Given the description of an element on the screen output the (x, y) to click on. 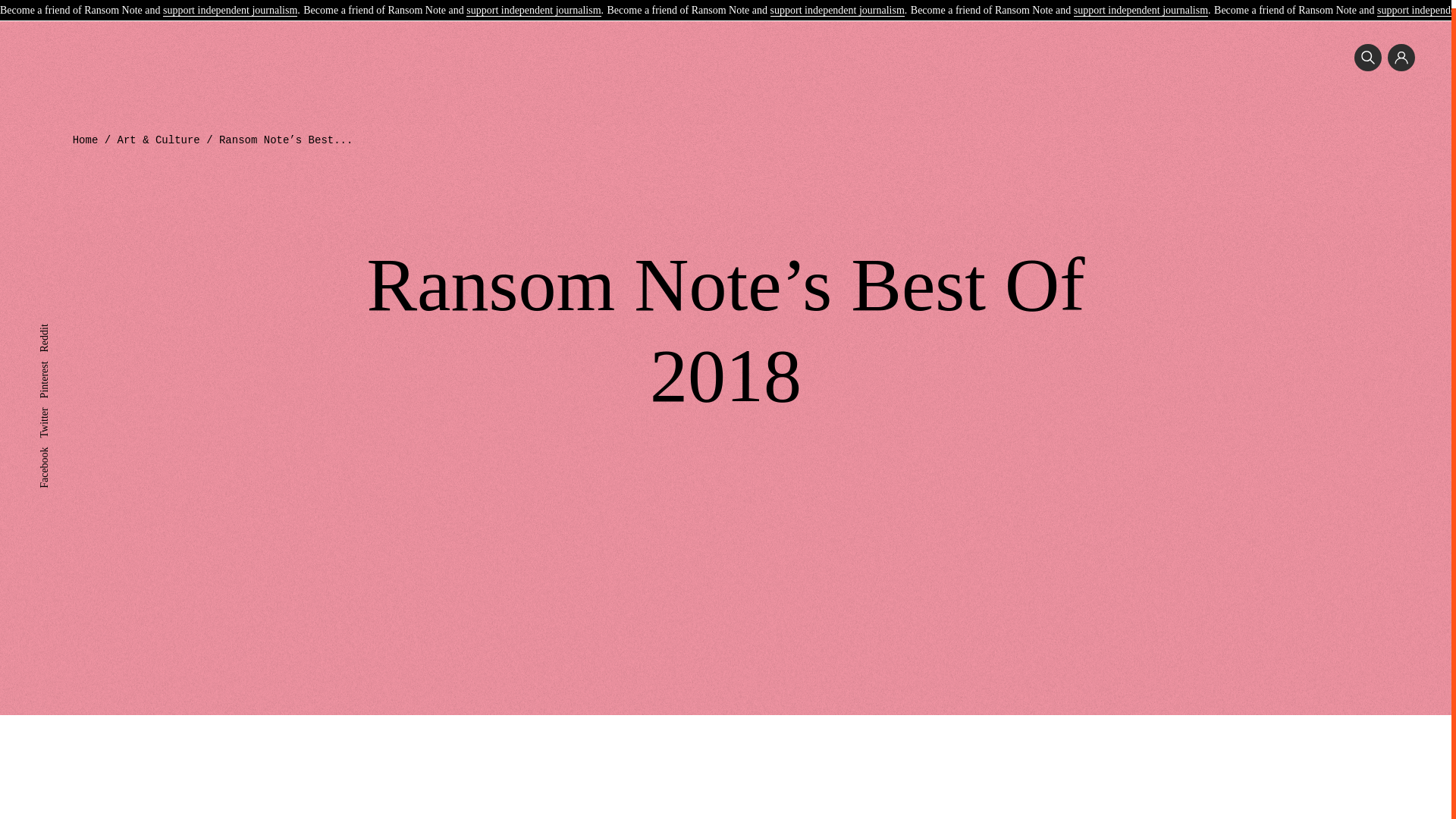
support independent journalism (230, 4)
Home (85, 140)
support independent journalism (532, 4)
support independent journalism (1141, 4)
Reddit (52, 321)
Pinterest (57, 358)
Twitter (53, 404)
support independent journalism (837, 4)
Facebook (59, 444)
